Given the description of an element on the screen output the (x, y) to click on. 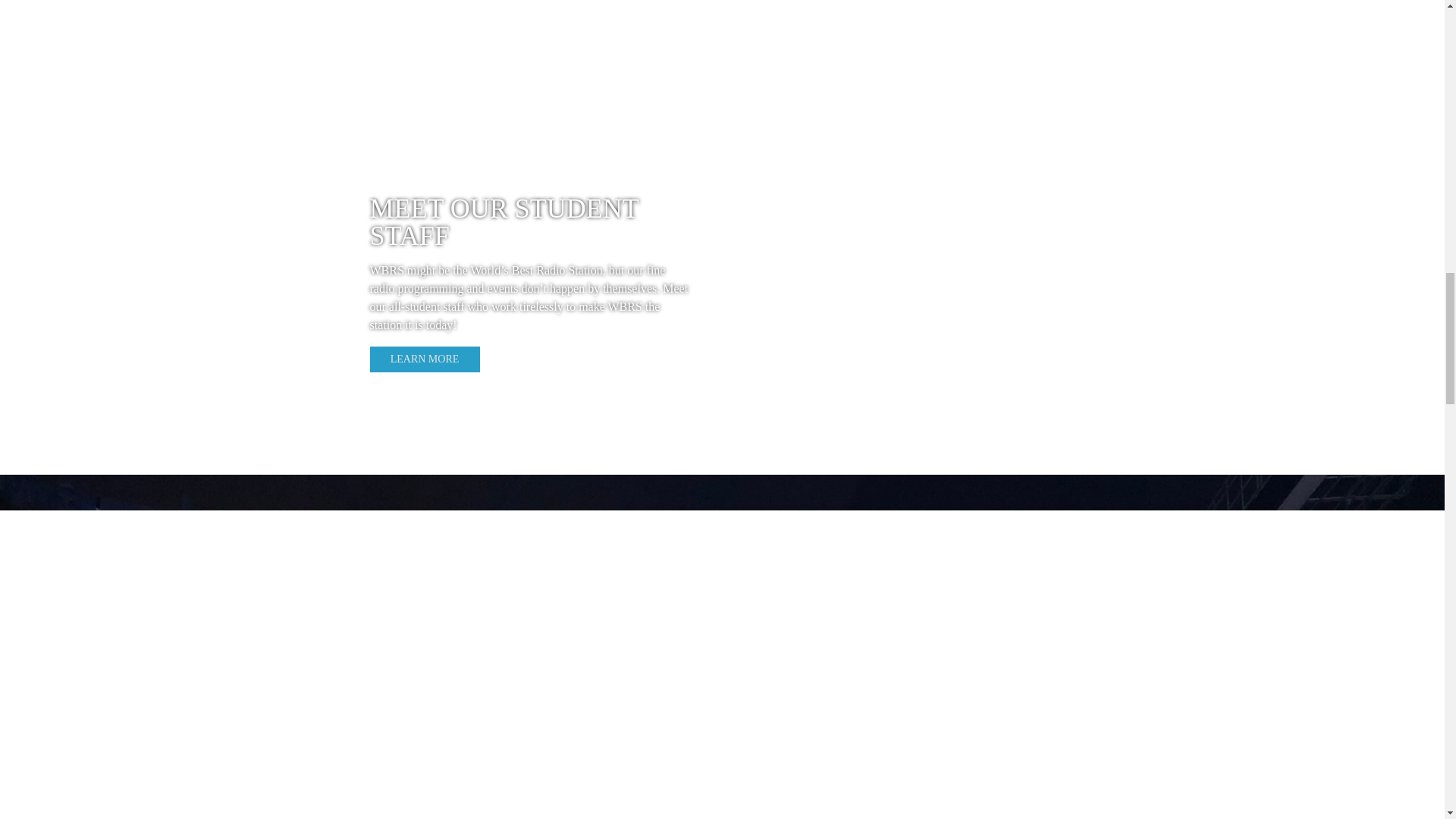
LEARN MORE (424, 359)
